Given the description of an element on the screen output the (x, y) to click on. 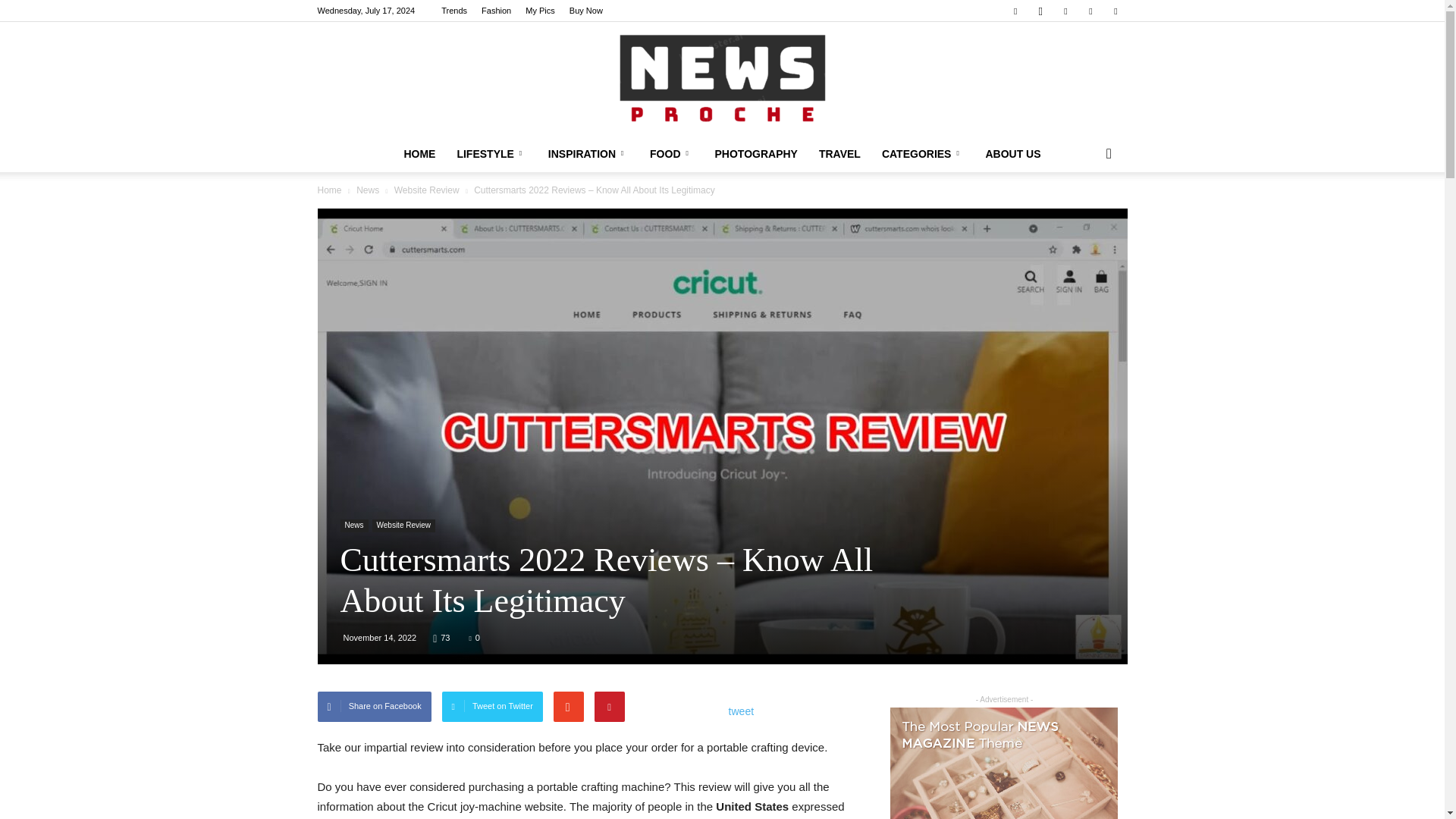
HOME (419, 153)
Instagram (1040, 10)
LIFESTYLE (491, 153)
Facebook (1015, 10)
Trends (454, 10)
Buy Now (585, 10)
My Pics (539, 10)
Fashion (496, 10)
Tumblr (1090, 10)
Pinterest (1065, 10)
Twitter (1114, 10)
